Given the description of an element on the screen output the (x, y) to click on. 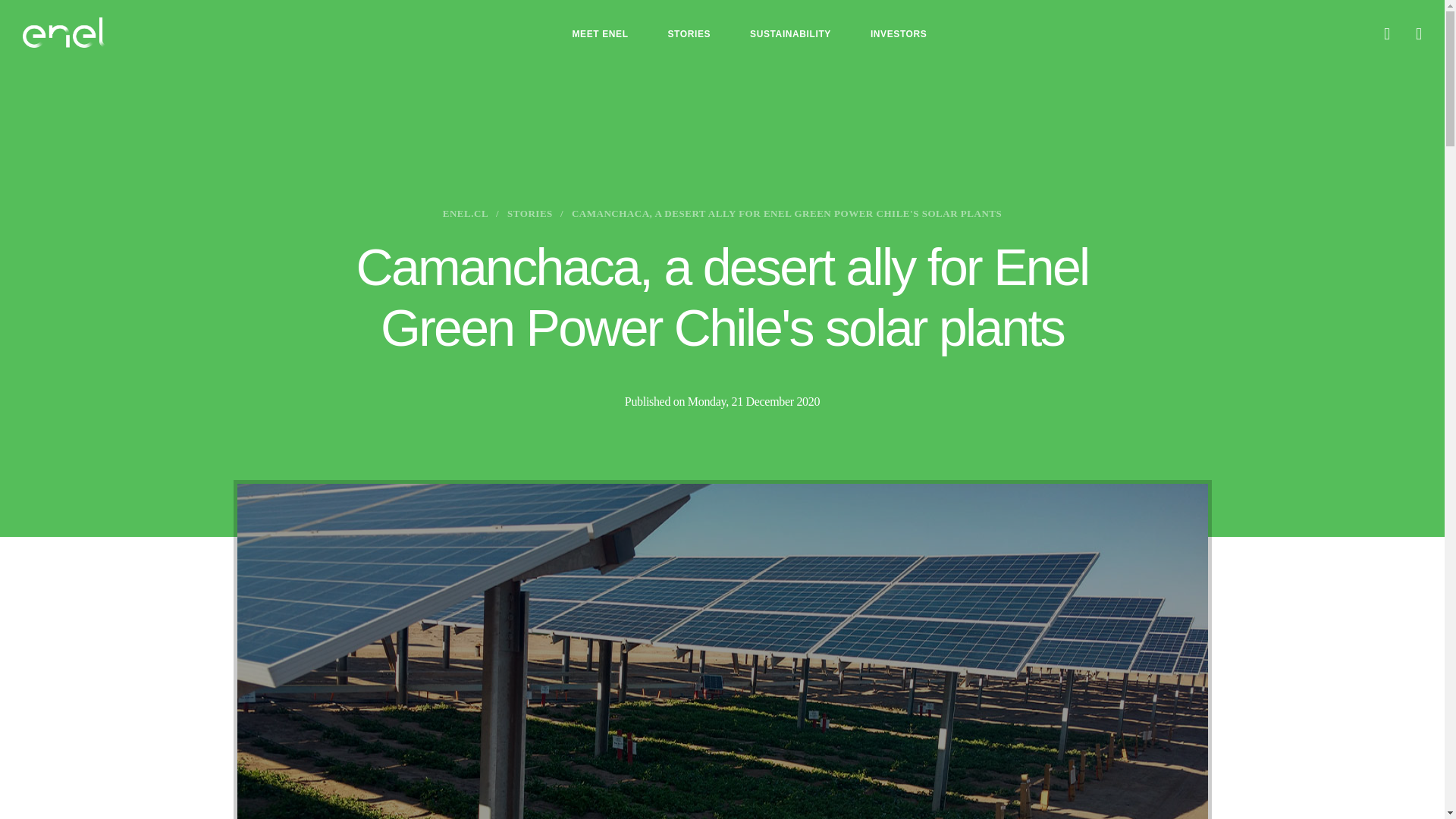
STORIES (688, 33)
Ir a la pagina enel.cl. (464, 213)
MEET ENEL (599, 33)
Ir al inicio del sitio. (63, 32)
SUSTAINABILITY (790, 33)
Ir a la pagina Stories. (529, 213)
INVESTORS (899, 33)
